Given the description of an element on the screen output the (x, y) to click on. 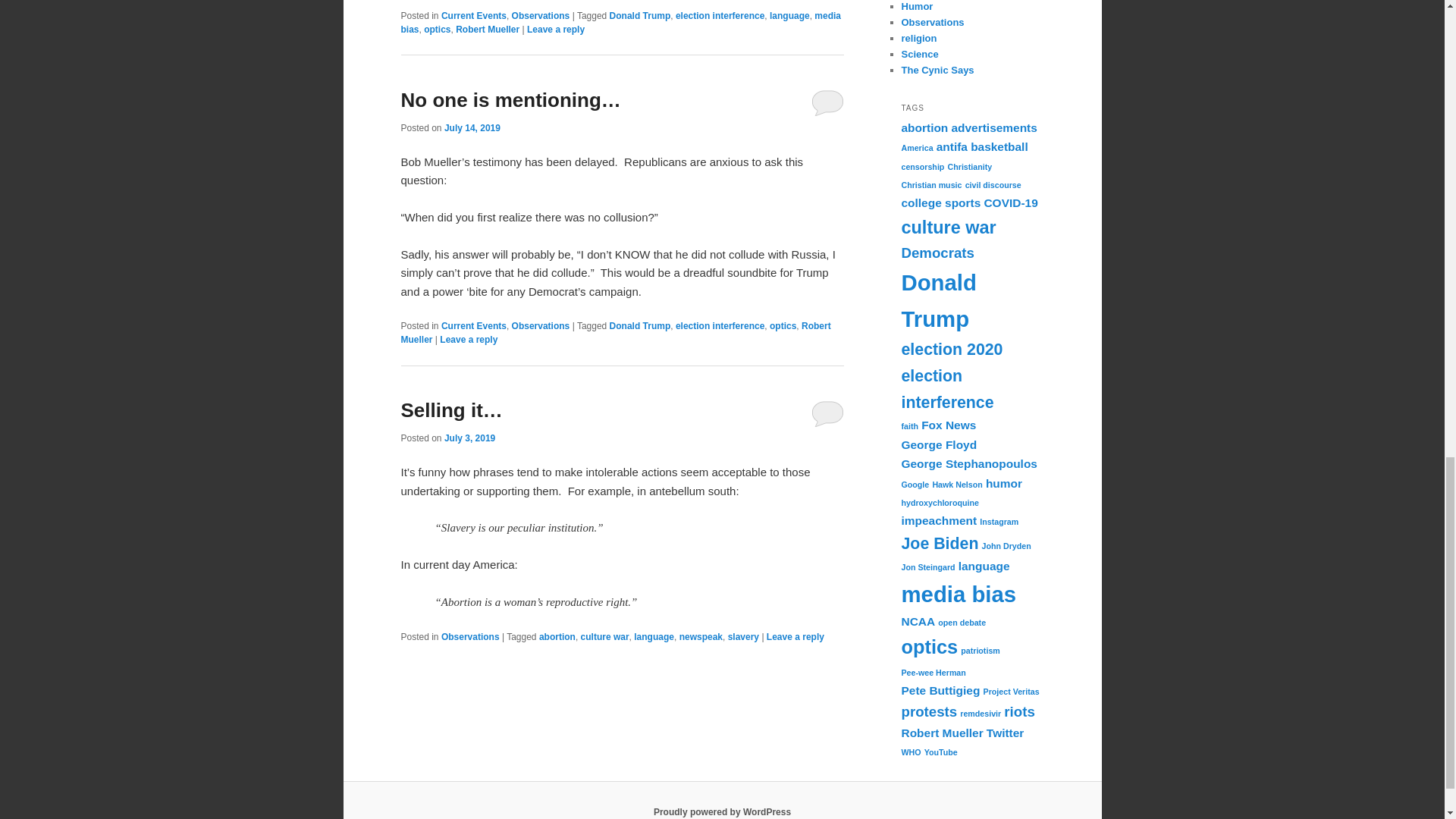
Observations (541, 15)
10:47 am (472, 127)
media bias (620, 22)
Donald Trump (640, 15)
language (789, 15)
Current Events (473, 15)
election interference (719, 15)
Robert Mueller (487, 29)
1:25 pm (469, 438)
optics (436, 29)
Semantic Personal Publishing Platform (721, 811)
